Given the description of an element on the screen output the (x, y) to click on. 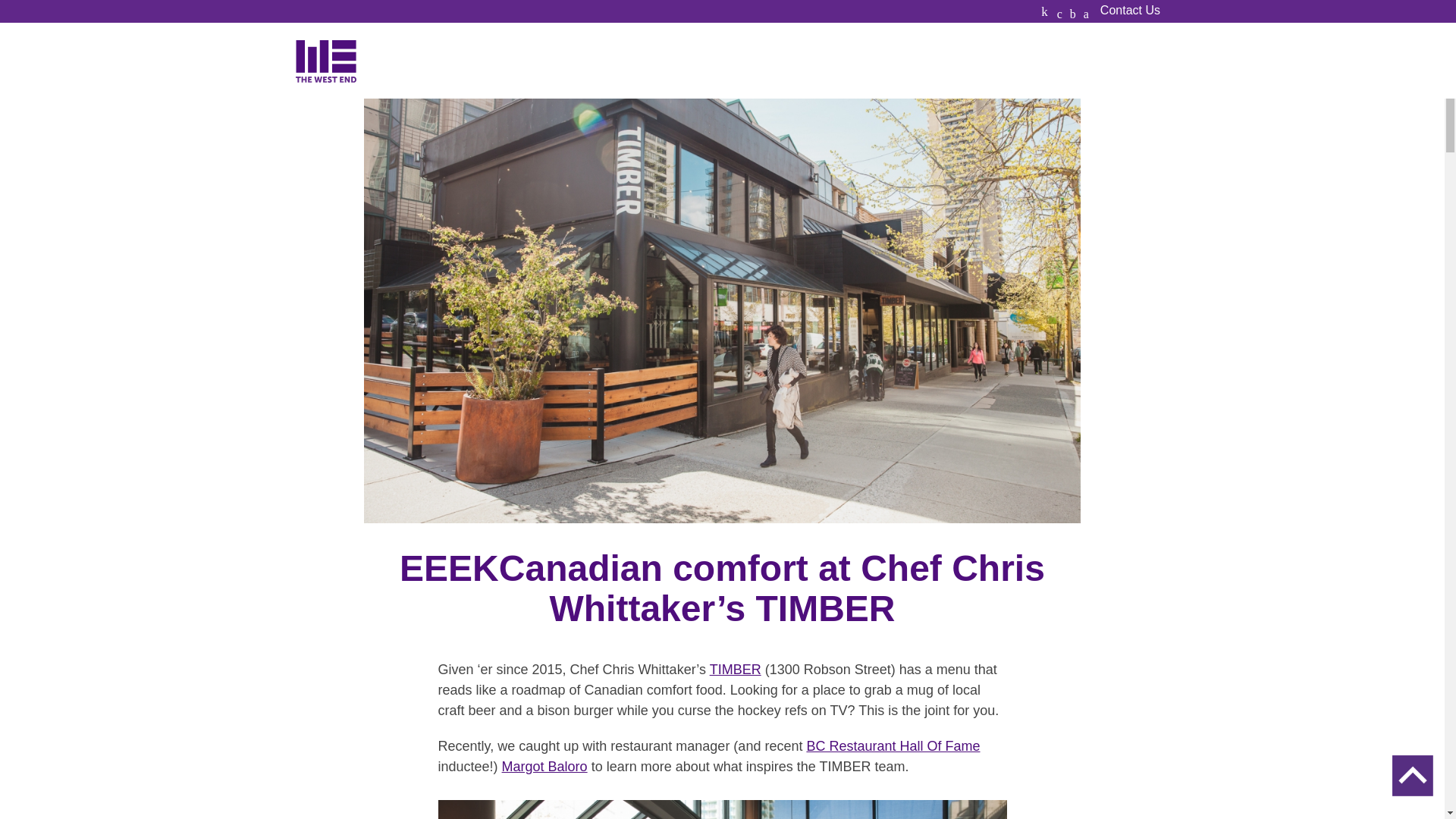
Contact Us (1130, 10)
